Given the description of an element on the screen output the (x, y) to click on. 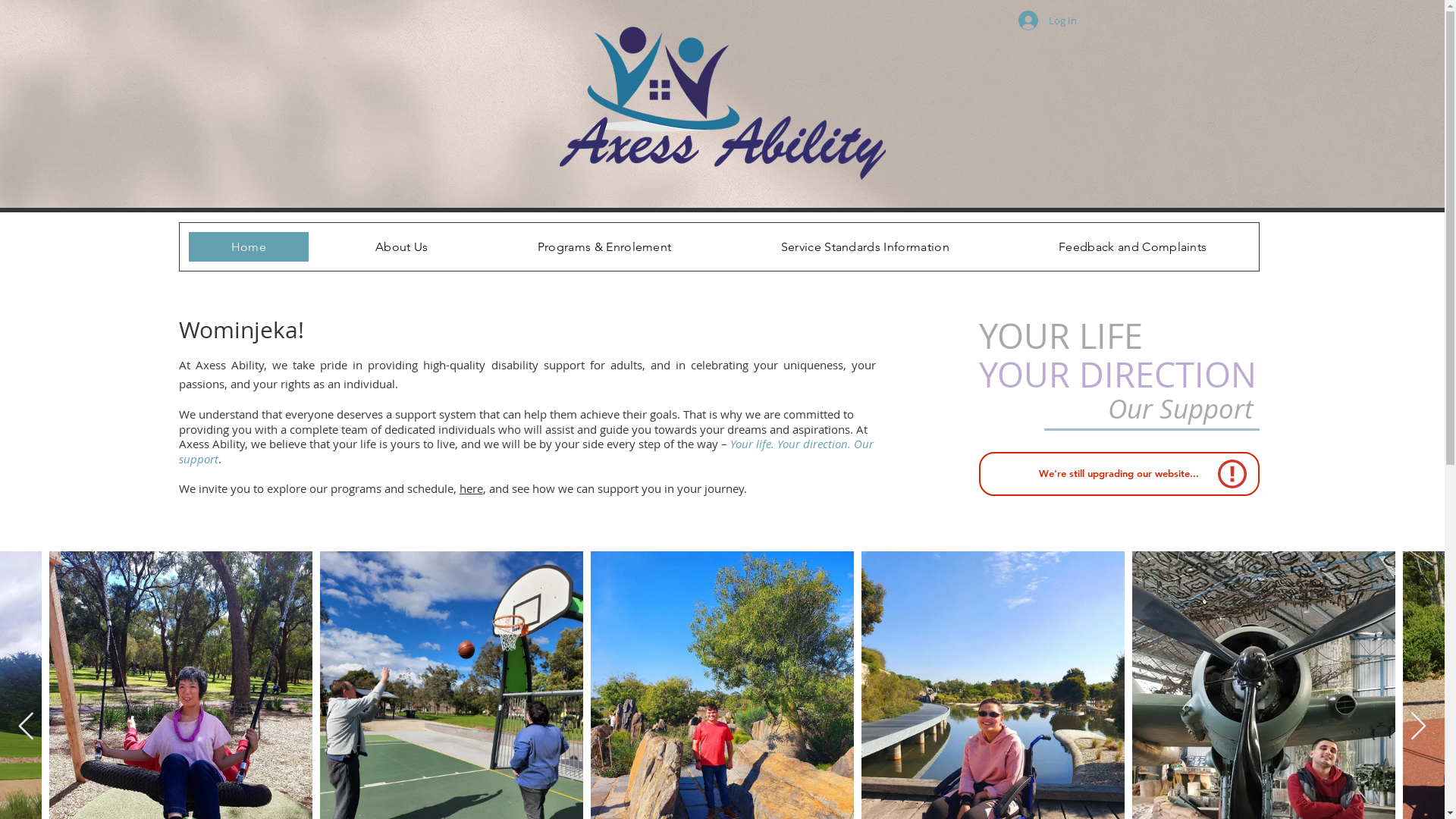
We're still upgrading our website... Element type: text (1118, 473)
About Us Element type: text (401, 246)
Programs & Enrolement Element type: text (604, 246)
Service Standards Information Element type: text (865, 246)
here Element type: text (471, 487)
Feedback and Complaints Element type: text (1132, 246)
Home Element type: text (247, 246)
Log In Element type: text (1046, 20)
